Given the description of an element on the screen output the (x, y) to click on. 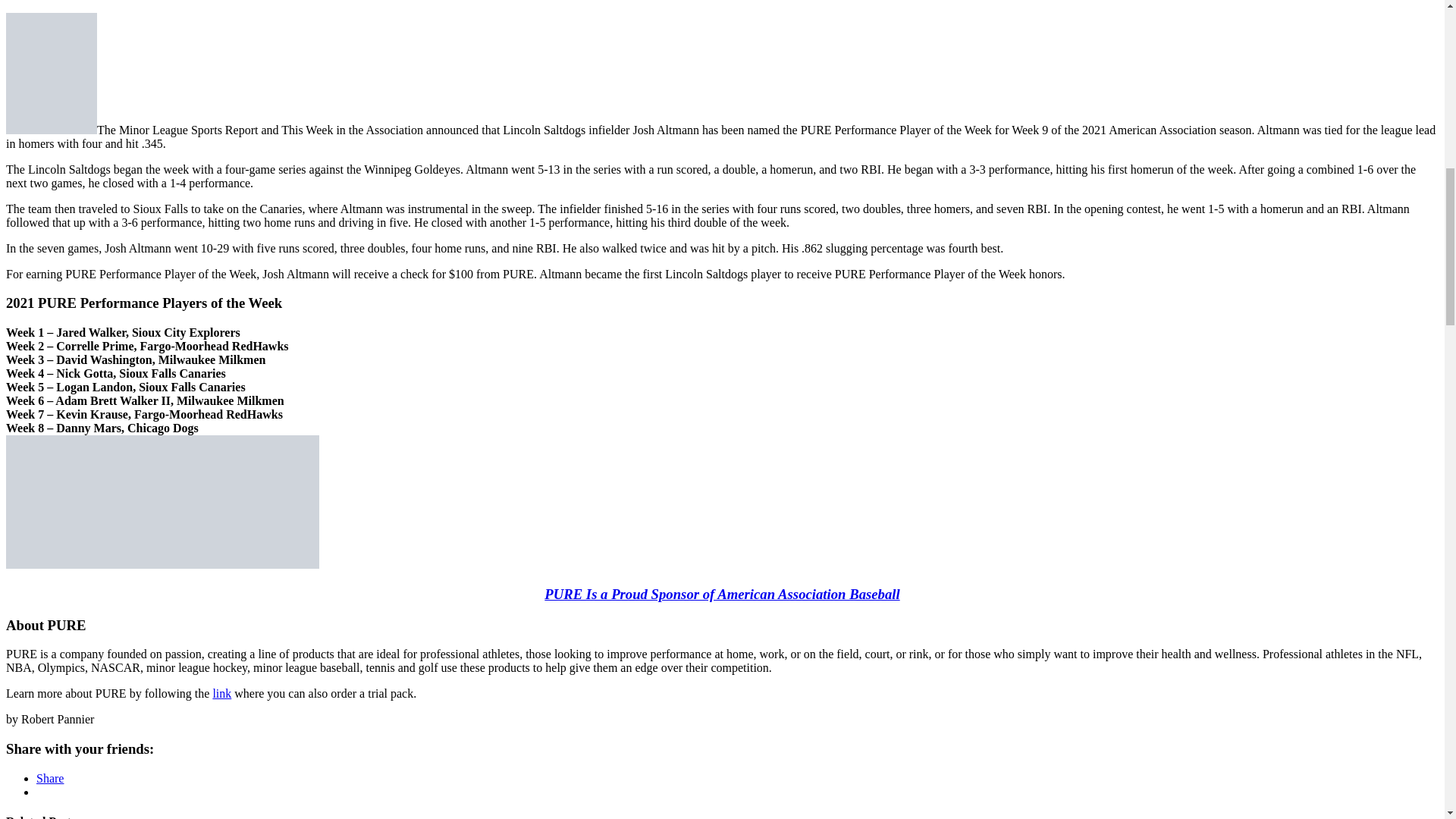
link (221, 693)
Share (50, 778)
PURE Is a Proud Sponsor of American Association Baseball (721, 593)
